Given the description of an element on the screen output the (x, y) to click on. 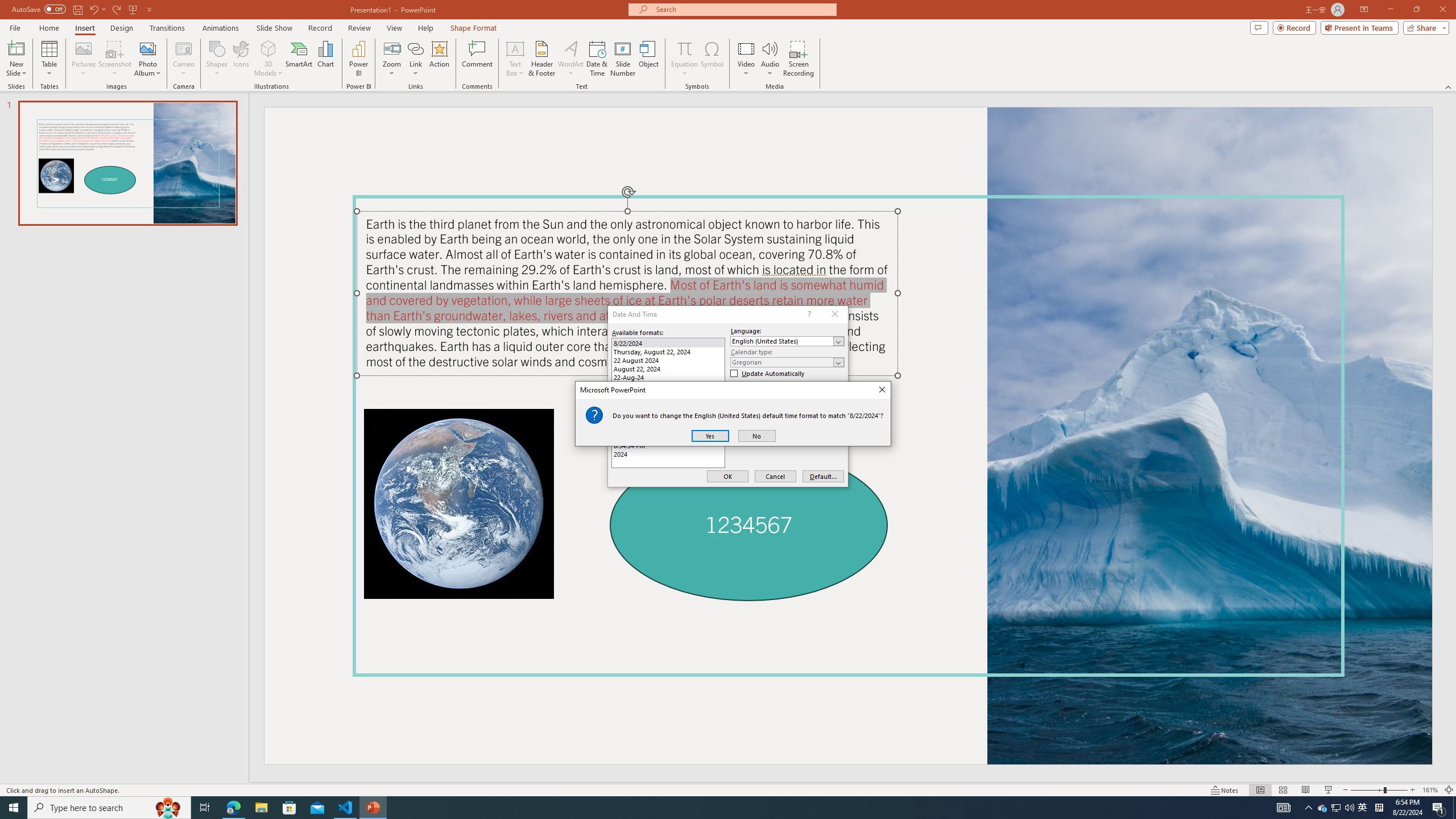
Update Automatically (767, 373)
Notification Chevron (1308, 807)
Cameo (1322, 807)
3D Models (183, 48)
AutomationID: 4105 (268, 48)
Collapse the Ribbon (1283, 807)
File Tab (1448, 86)
User Promoted Notification Area (15, 27)
Screen Recording... (1336, 807)
Zoom (798, 58)
Insert (391, 58)
Visual Studio Code - 1 running window (83, 28)
